Given the description of an element on the screen output the (x, y) to click on. 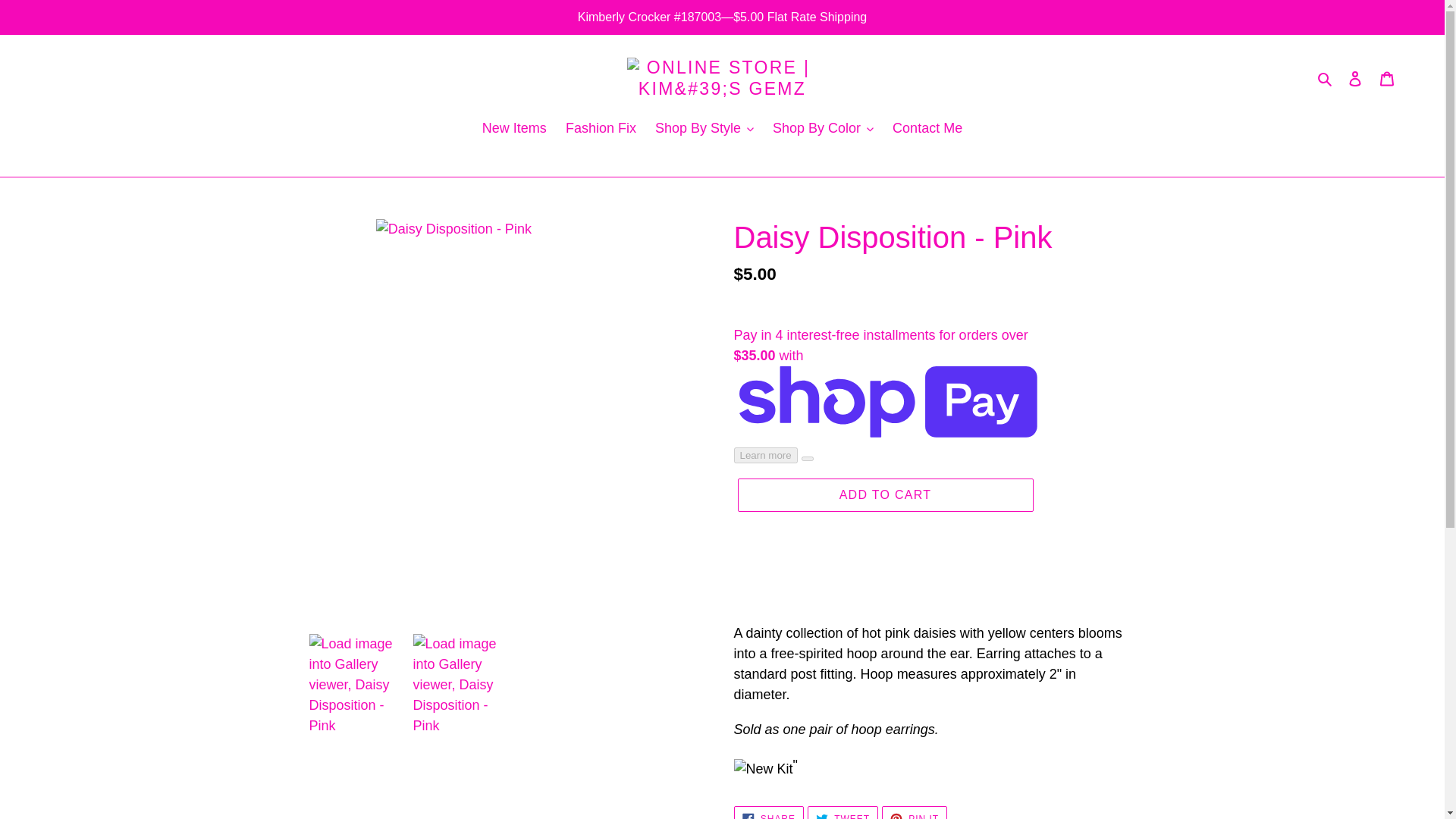
Search (1326, 78)
Log in (1355, 78)
Cart (1387, 78)
